Given the description of an element on the screen output the (x, y) to click on. 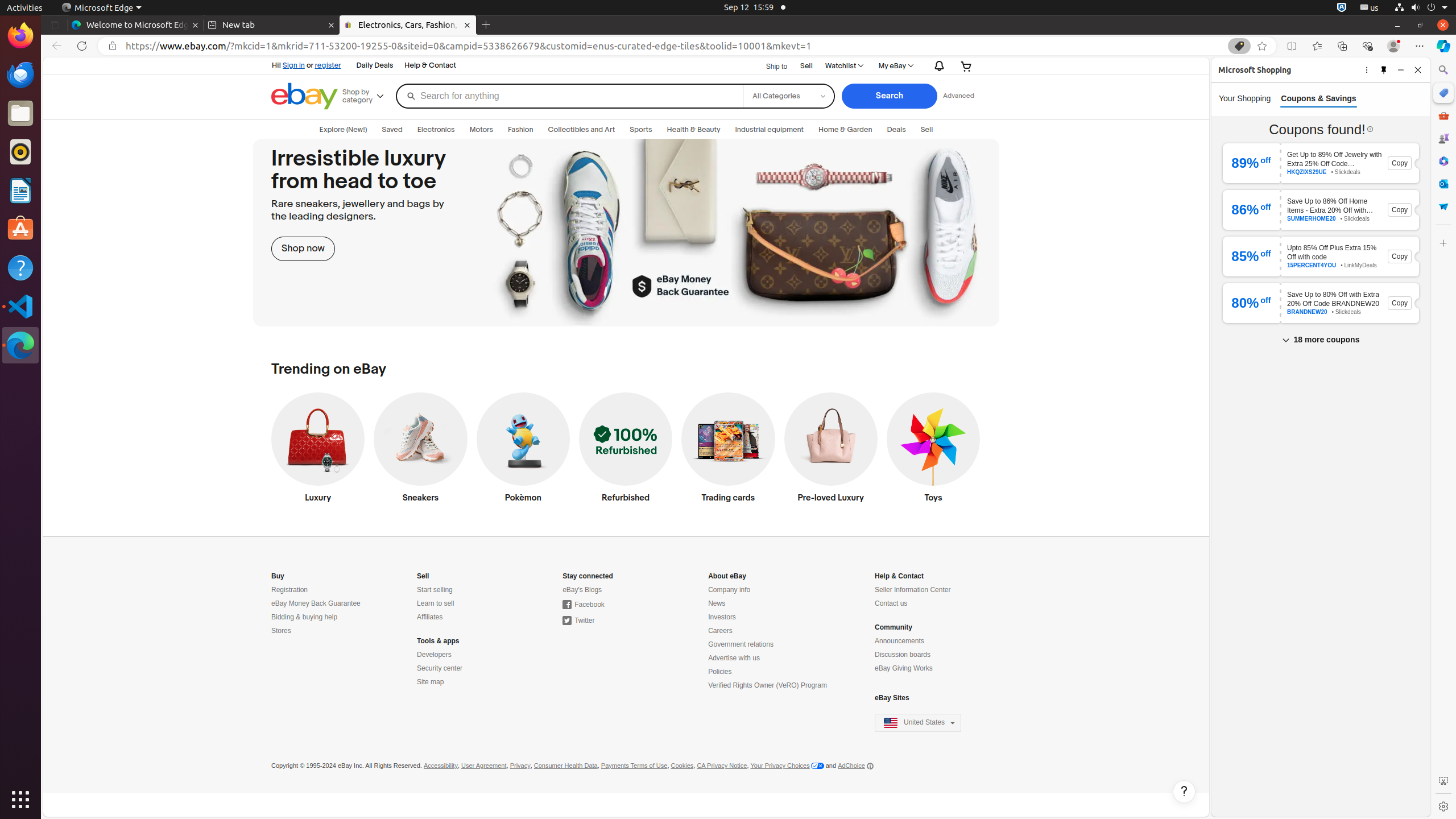
Pre-loved Luxury Element type: link (830, 450)
User Agreement Element type: link (483, 765)
Your shopping cart Element type: link (966, 65)
Start selling Element type: link (434, 589)
Toys Element type: link (933, 450)
